Given the description of an element on the screen output the (x, y) to click on. 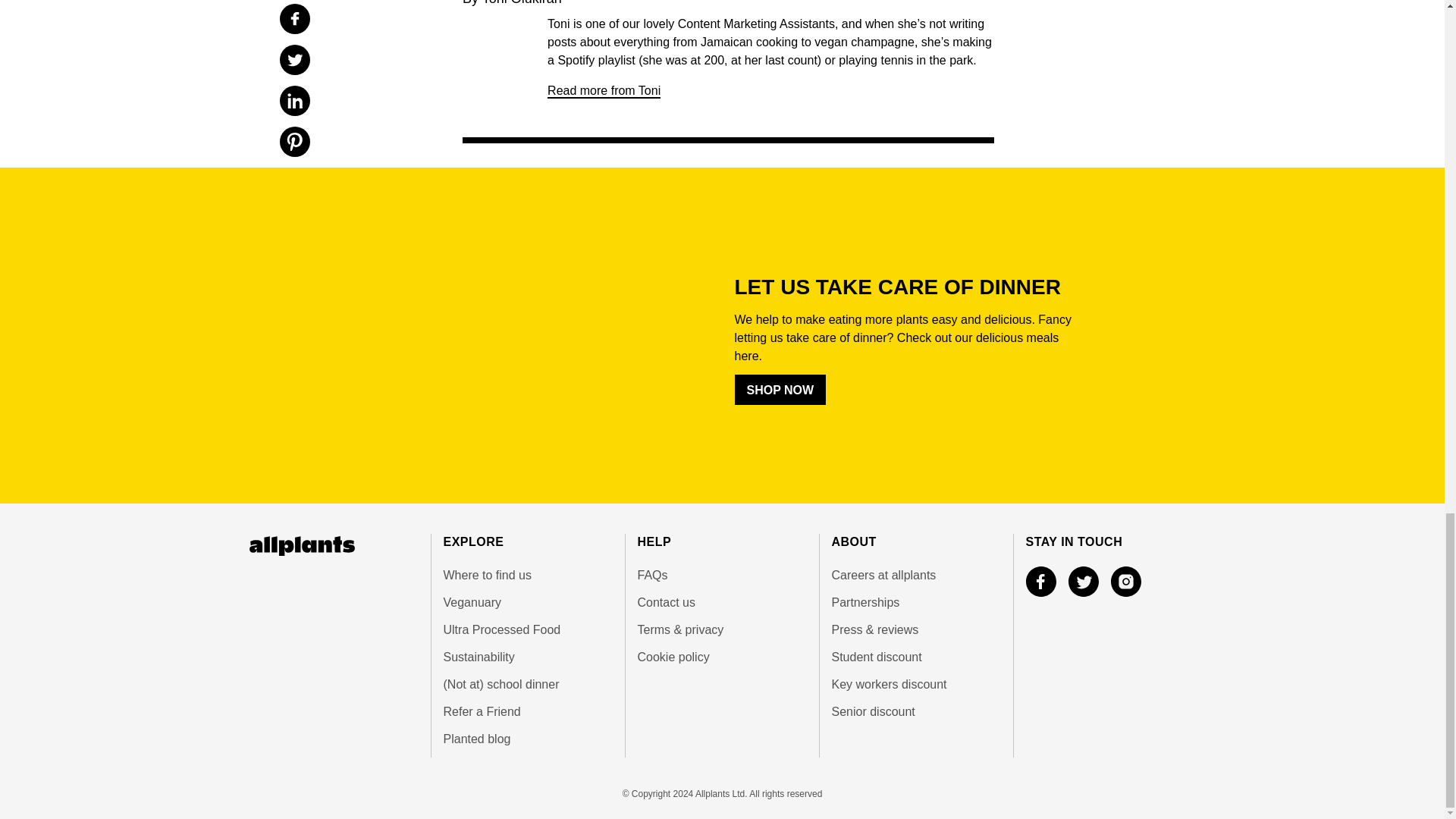
Ultra Processed Food (526, 629)
Contact us (721, 602)
Read more from Toni (604, 91)
FAQs (721, 575)
SHOP NOW (779, 389)
Cookie policy (721, 657)
Sustainability (526, 657)
Where to find us (526, 575)
Partnerships (915, 602)
Planted blog (526, 739)
